Given the description of an element on the screen output the (x, y) to click on. 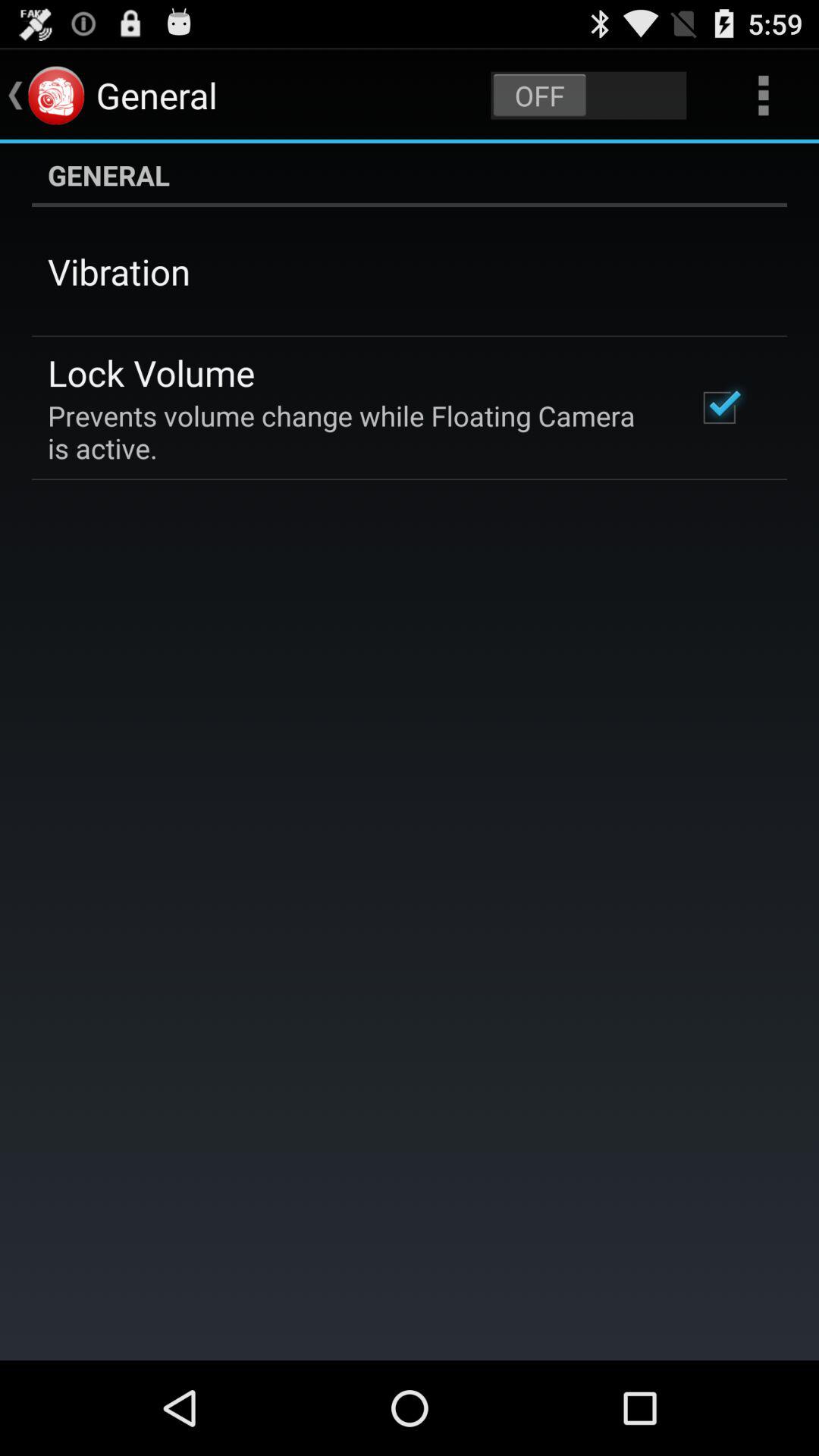
turn on item below general (118, 271)
